Given the description of an element on the screen output the (x, y) to click on. 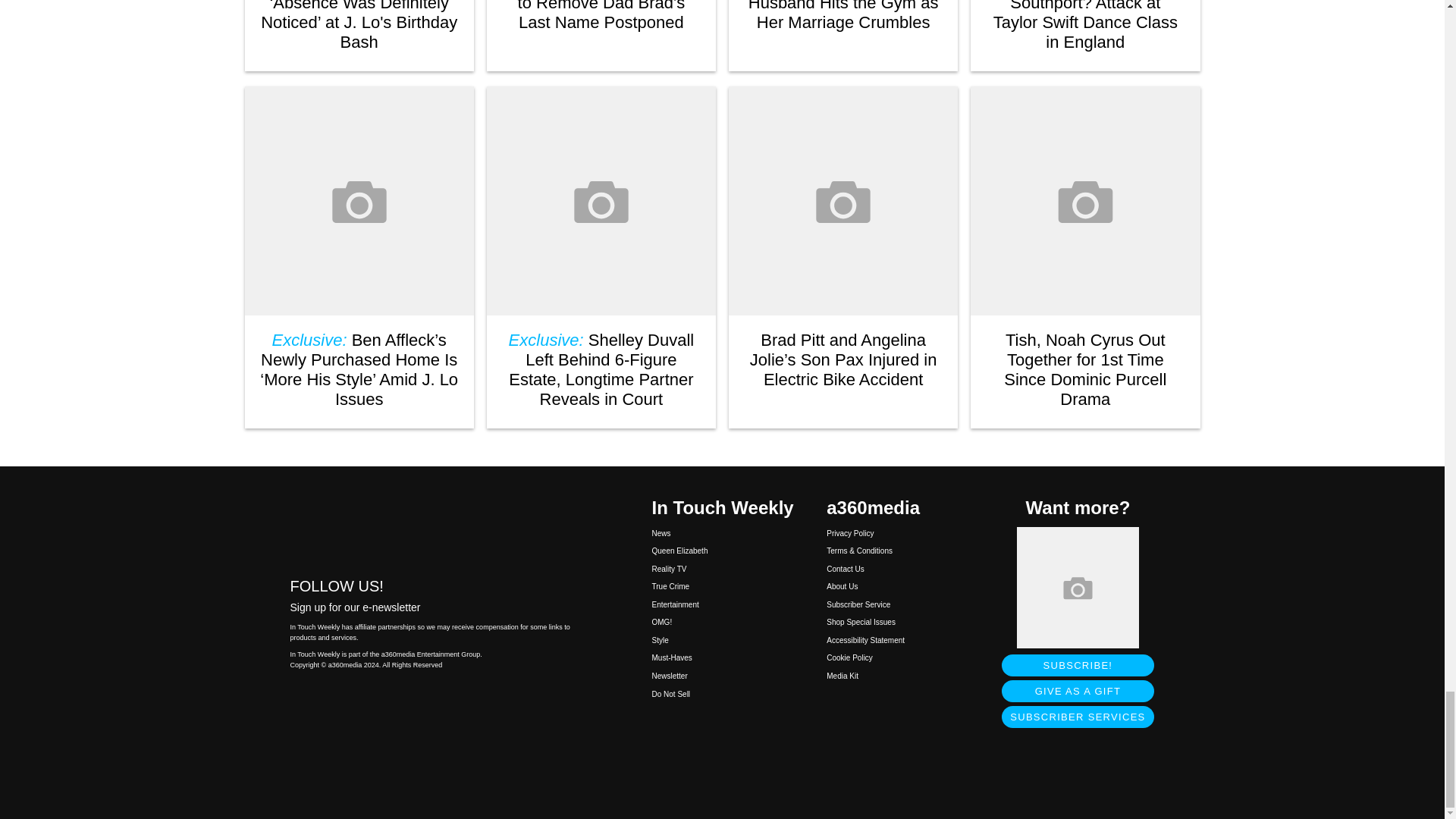
Home (434, 526)
